Given the description of an element on the screen output the (x, y) to click on. 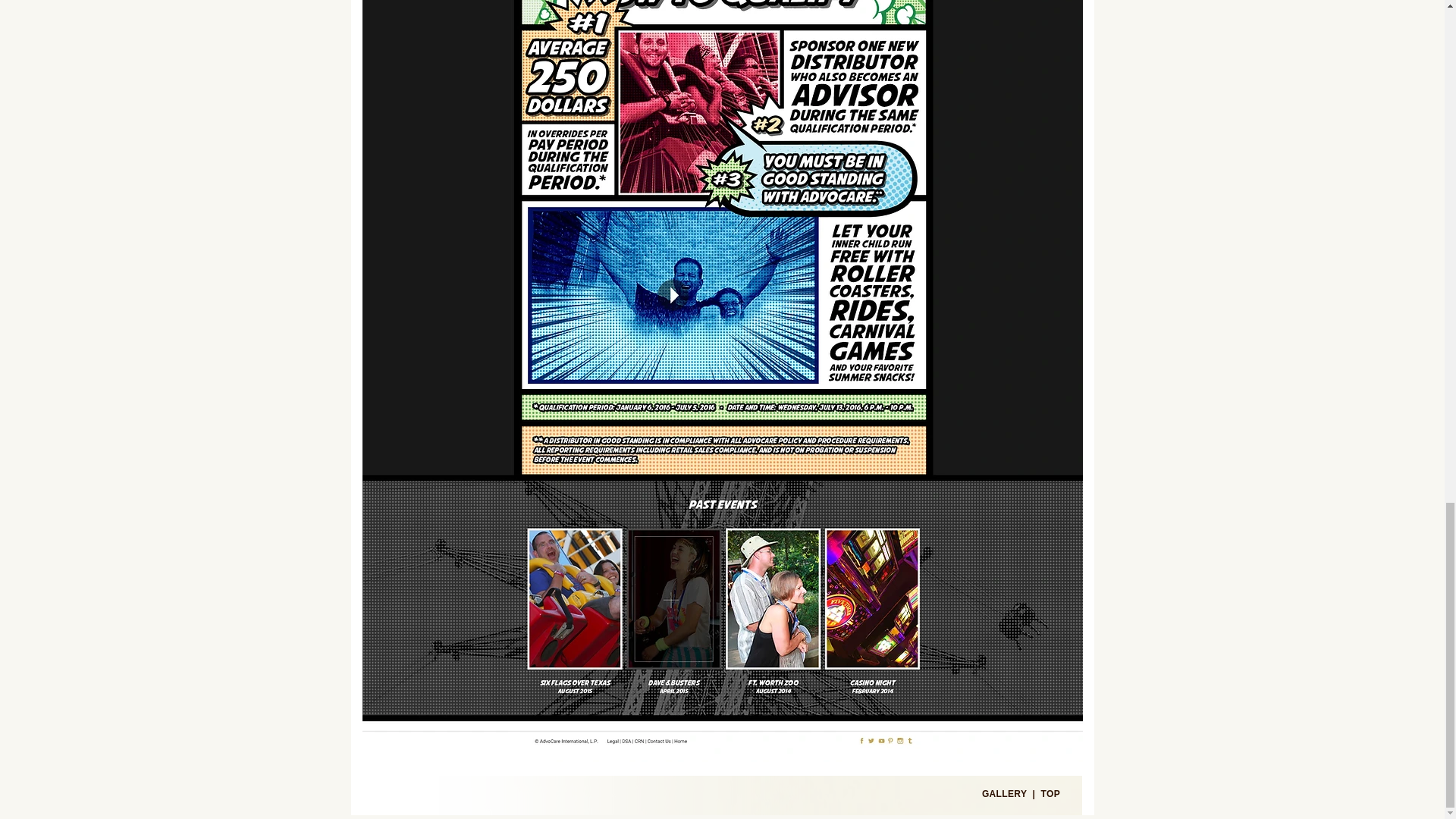
TOP (1051, 793)
GALLERY (1003, 793)
